Given the description of an element on the screen output the (x, y) to click on. 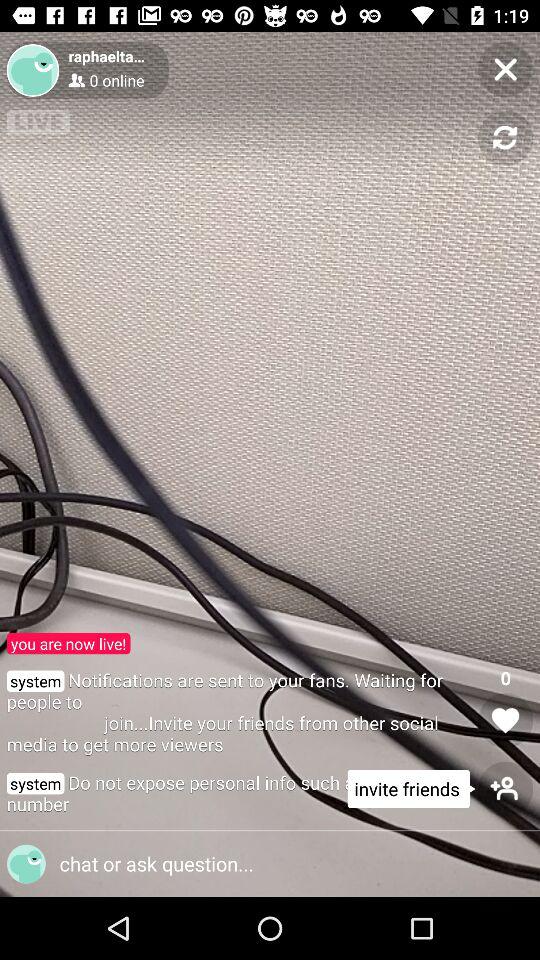
window close icon (505, 69)
